Given the description of an element on the screen output the (x, y) to click on. 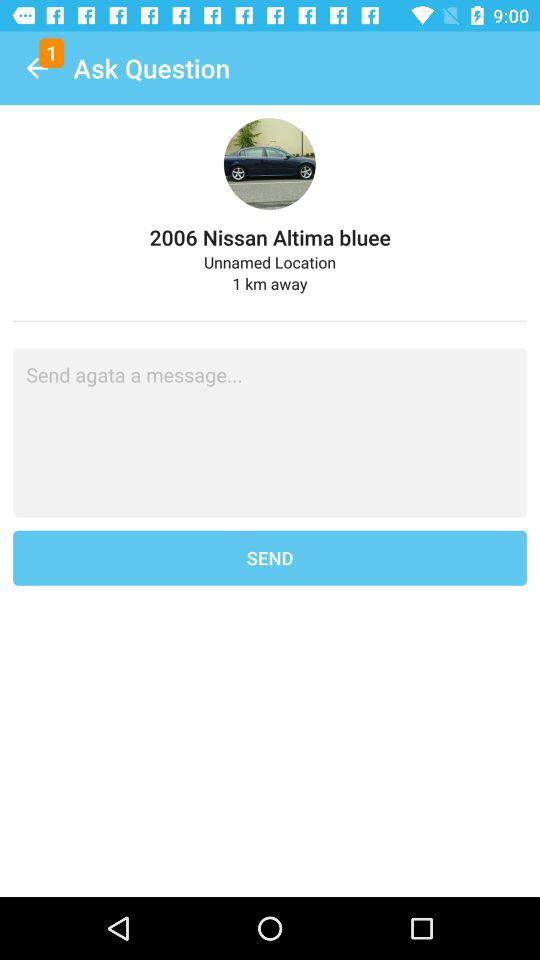
select send (269, 557)
